Given the description of an element on the screen output the (x, y) to click on. 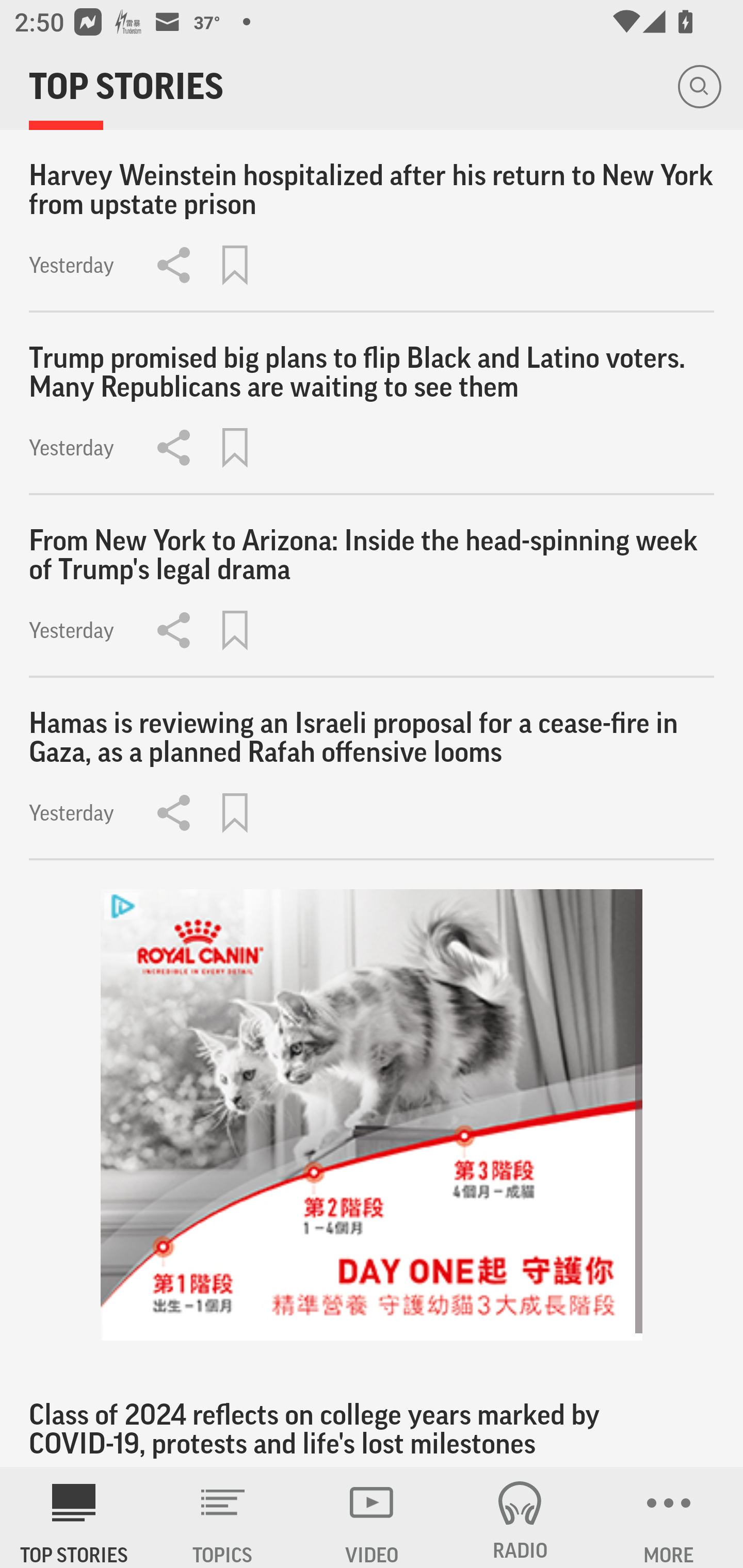
ooulh2nc_300x250 (371, 1114)
AP News TOP STORIES (74, 1517)
TOPICS (222, 1517)
VIDEO (371, 1517)
RADIO (519, 1517)
MORE (668, 1517)
